Given the description of an element on the screen output the (x, y) to click on. 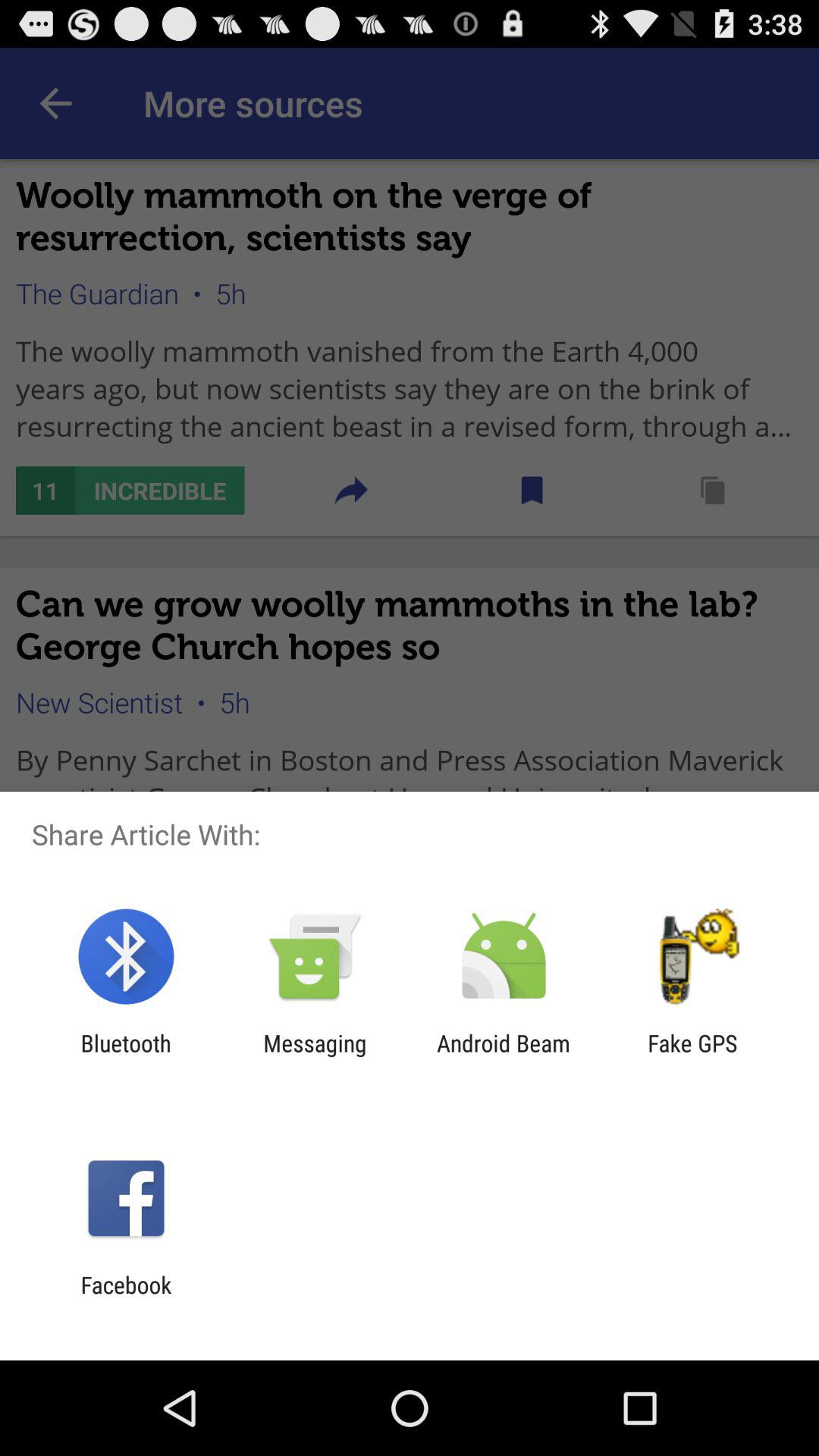
scroll until the fake gps item (692, 1056)
